Given the description of an element on the screen output the (x, y) to click on. 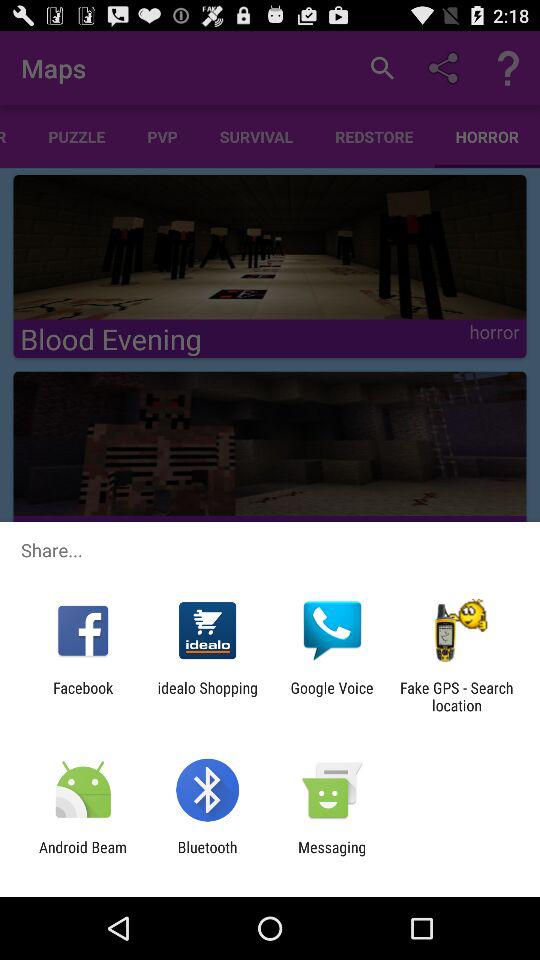
choose the item to the left of google voice (207, 696)
